Given the description of an element on the screen output the (x, y) to click on. 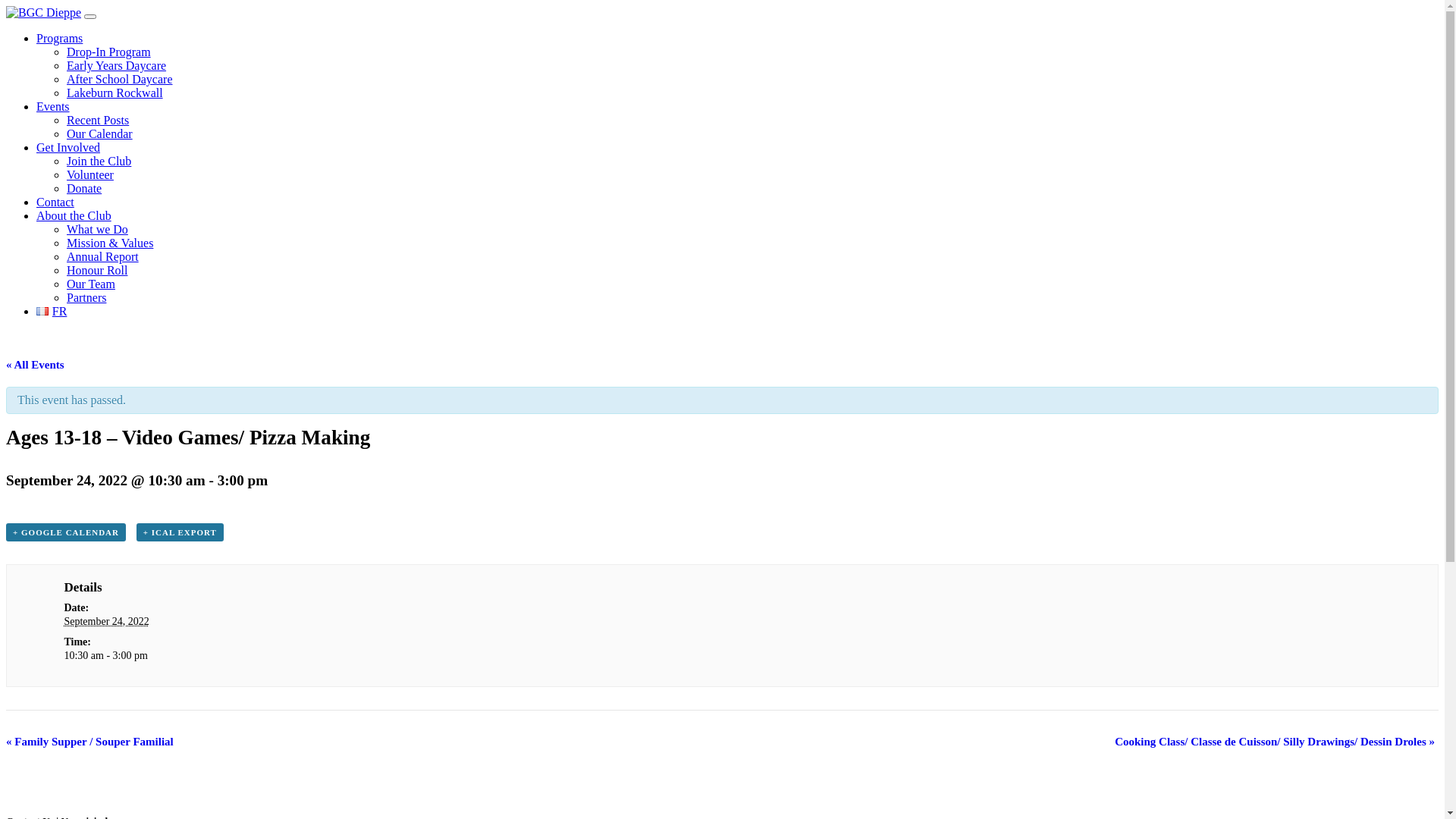
Honour Roll Element type: text (96, 269)
Annual Report Element type: text (102, 256)
Join the Club Element type: text (98, 160)
FR Element type: text (51, 310)
What we Do Element type: text (97, 228)
Programs Element type: text (59, 37)
Contact Element type: text (55, 201)
Our Team Element type: text (90, 283)
Recent Posts Element type: text (97, 119)
Drop-In Program Element type: text (108, 51)
Partners Element type: text (86, 297)
Our Calendar Element type: text (99, 133)
Skip to content Element type: text (5, 5)
FR Element type: hover (42, 311)
Events Element type: text (52, 106)
Get Involved Element type: text (68, 147)
After School Daycare Element type: text (119, 78)
Early Years Daycare Element type: text (116, 65)
About the Club Element type: text (73, 215)
Volunteer Element type: text (89, 174)
+ GOOGLE CALENDAR Element type: text (65, 532)
Mission & Values Element type: text (109, 242)
Donate Element type: text (83, 188)
+ ICAL EXPORT Element type: text (179, 532)
Lakeburn Rockwall Element type: text (114, 92)
